Given the description of an element on the screen output the (x, y) to click on. 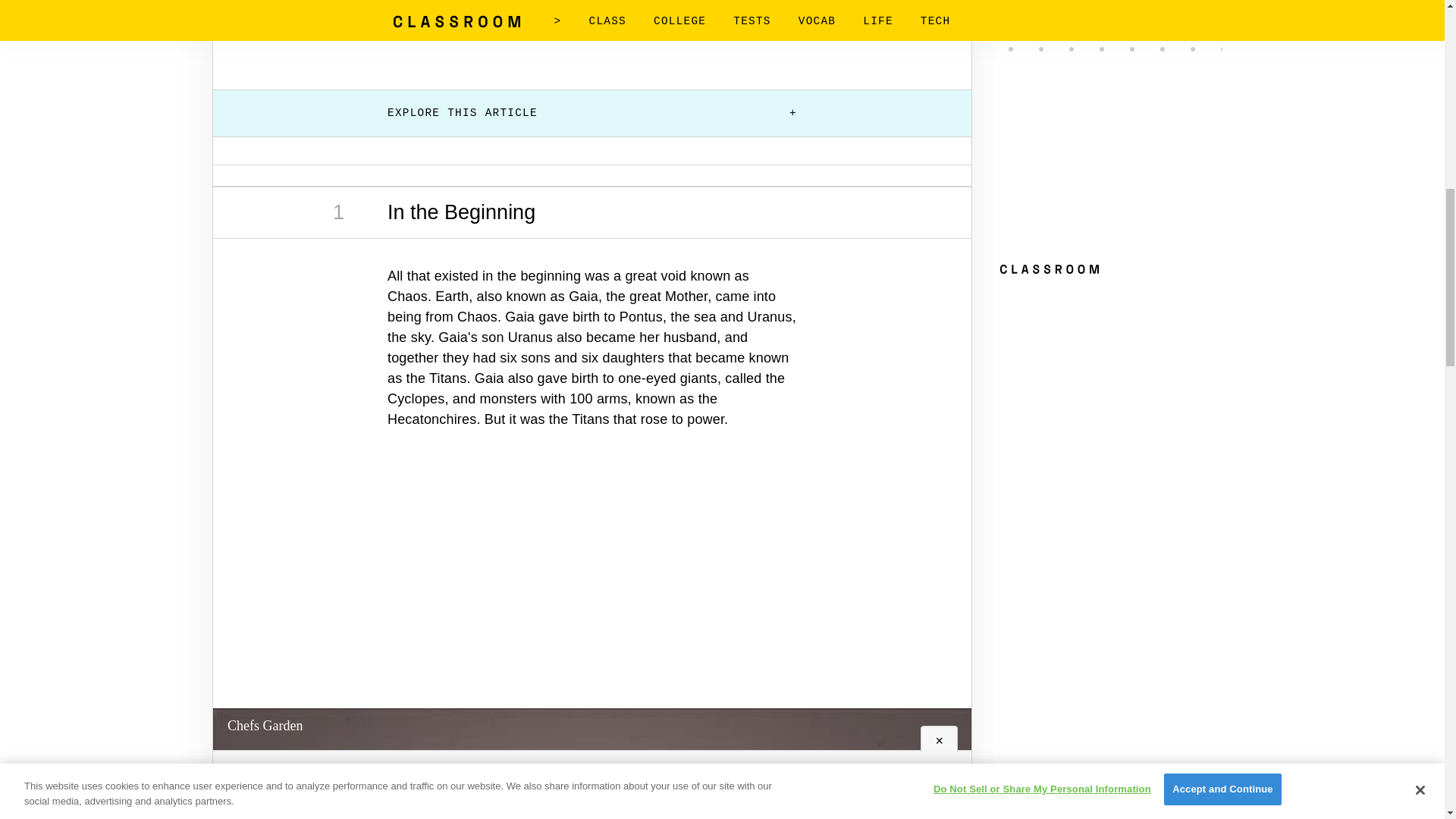
3rd party ad content (592, 585)
3rd party ad content (592, 31)
